Given the description of an element on the screen output the (x, y) to click on. 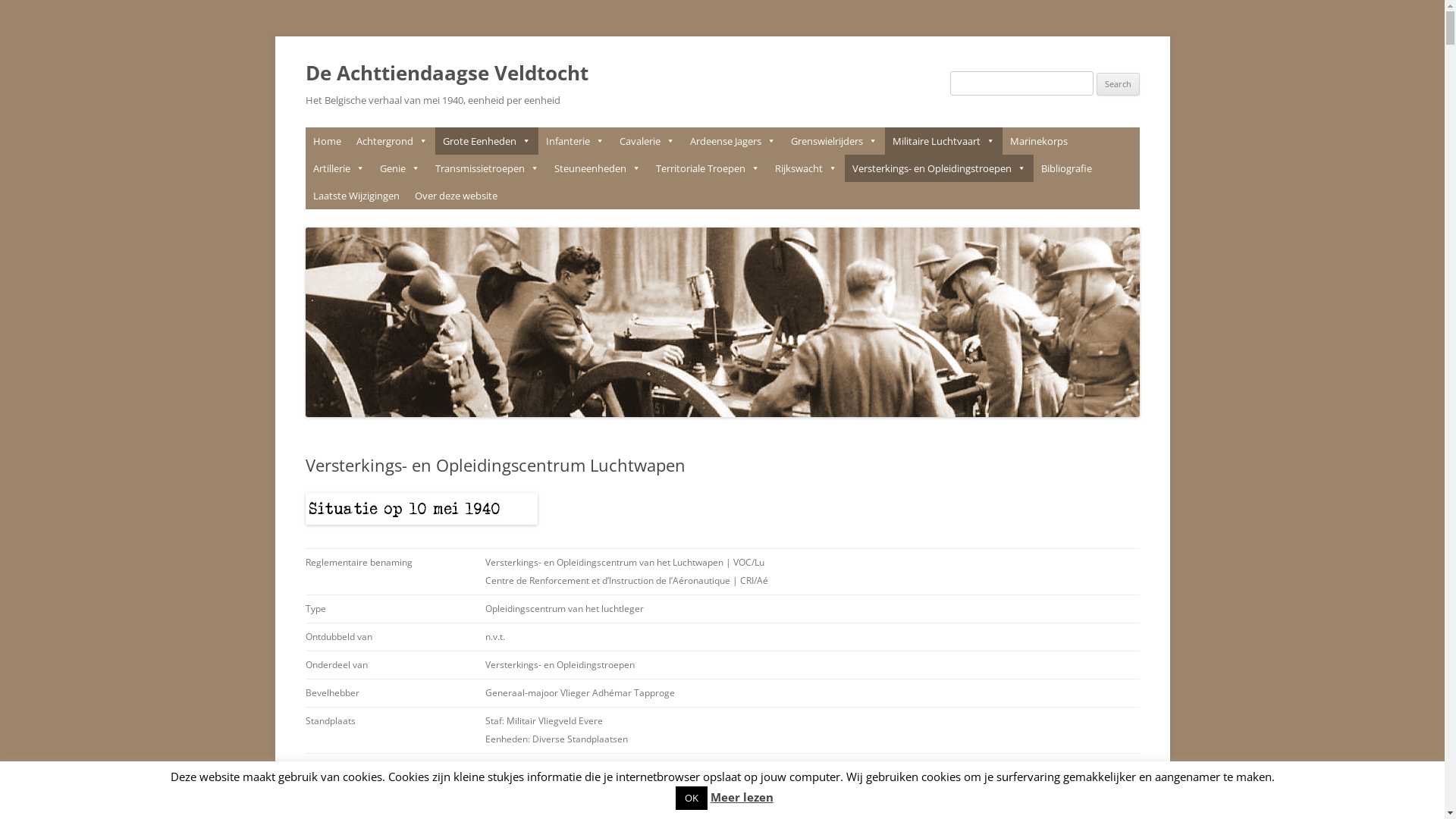
Rijkswacht Element type: text (805, 168)
OK Element type: text (690, 797)
Steuneenheden Element type: text (596, 168)
Grenswielrijders Element type: text (833, 140)
Achtergrond Element type: text (391, 140)
Home Element type: text (326, 140)
Search Element type: text (1117, 83)
Over deze website Element type: text (455, 195)
Versterkings- en Opleidingstroepen Element type: text (938, 168)
Meer lezen Element type: text (740, 796)
Laatste Wijzigingen Element type: text (355, 195)
Artillerie Element type: text (337, 168)
Ardeense Jagers Element type: text (732, 140)
Cavalerie Element type: text (646, 140)
Territoriale Troepen Element type: text (706, 168)
Bibliografie Element type: text (1065, 168)
Infanterie Element type: text (574, 140)
Genie Element type: text (398, 168)
Transmissietroepen Element type: text (486, 168)
Militaire Luchtvaart Element type: text (942, 140)
Marinekorps Element type: text (1038, 140)
Grote Eenheden Element type: text (486, 140)
De Achttiendaagse Veldtocht Element type: text (445, 72)
Skip to content Element type: text (721, 127)
